Given the description of an element on the screen output the (x, y) to click on. 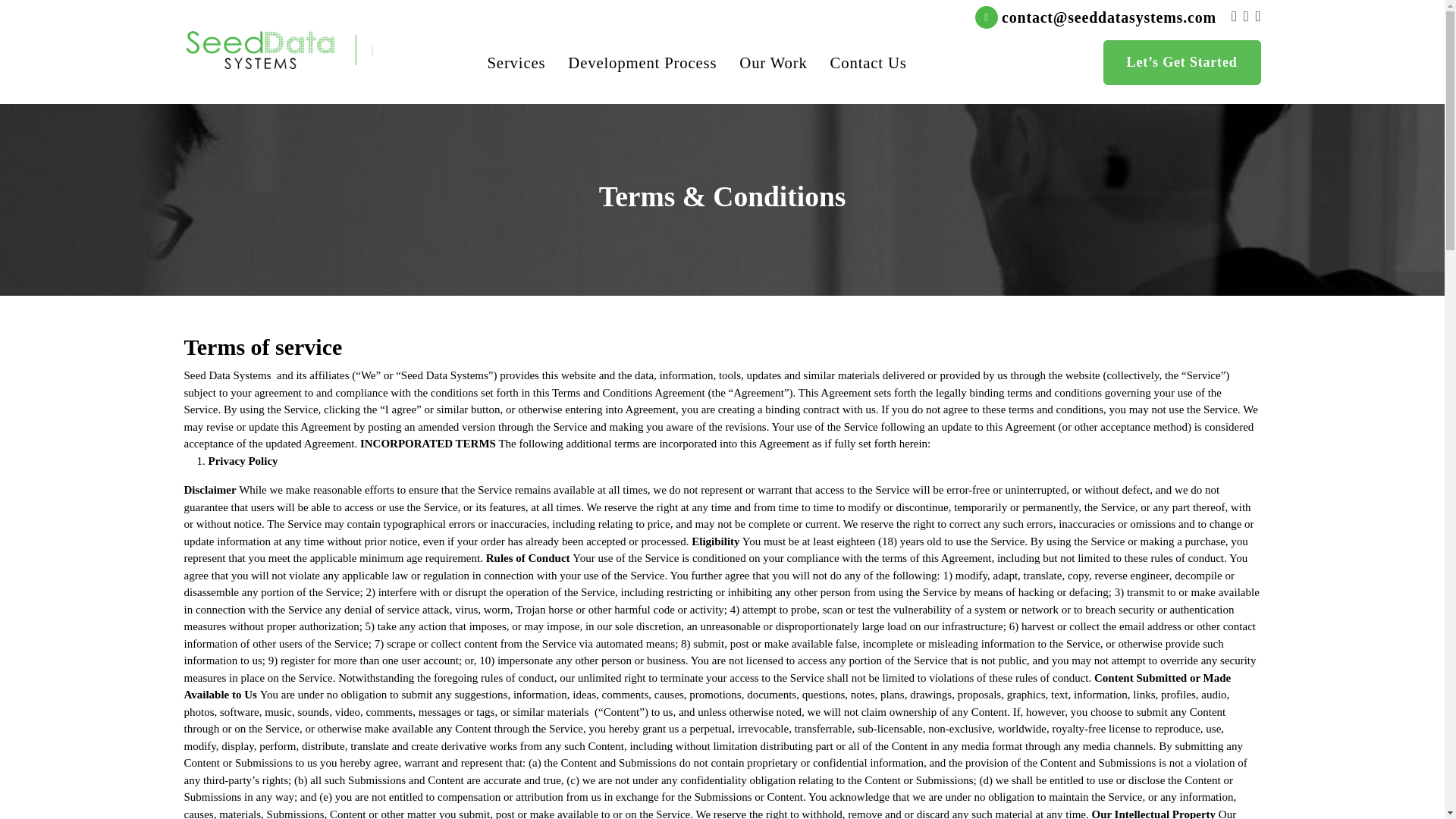
Contact Us (868, 62)
Services (515, 62)
Development Process (641, 62)
Our Work (772, 62)
